Given the description of an element on the screen output the (x, y) to click on. 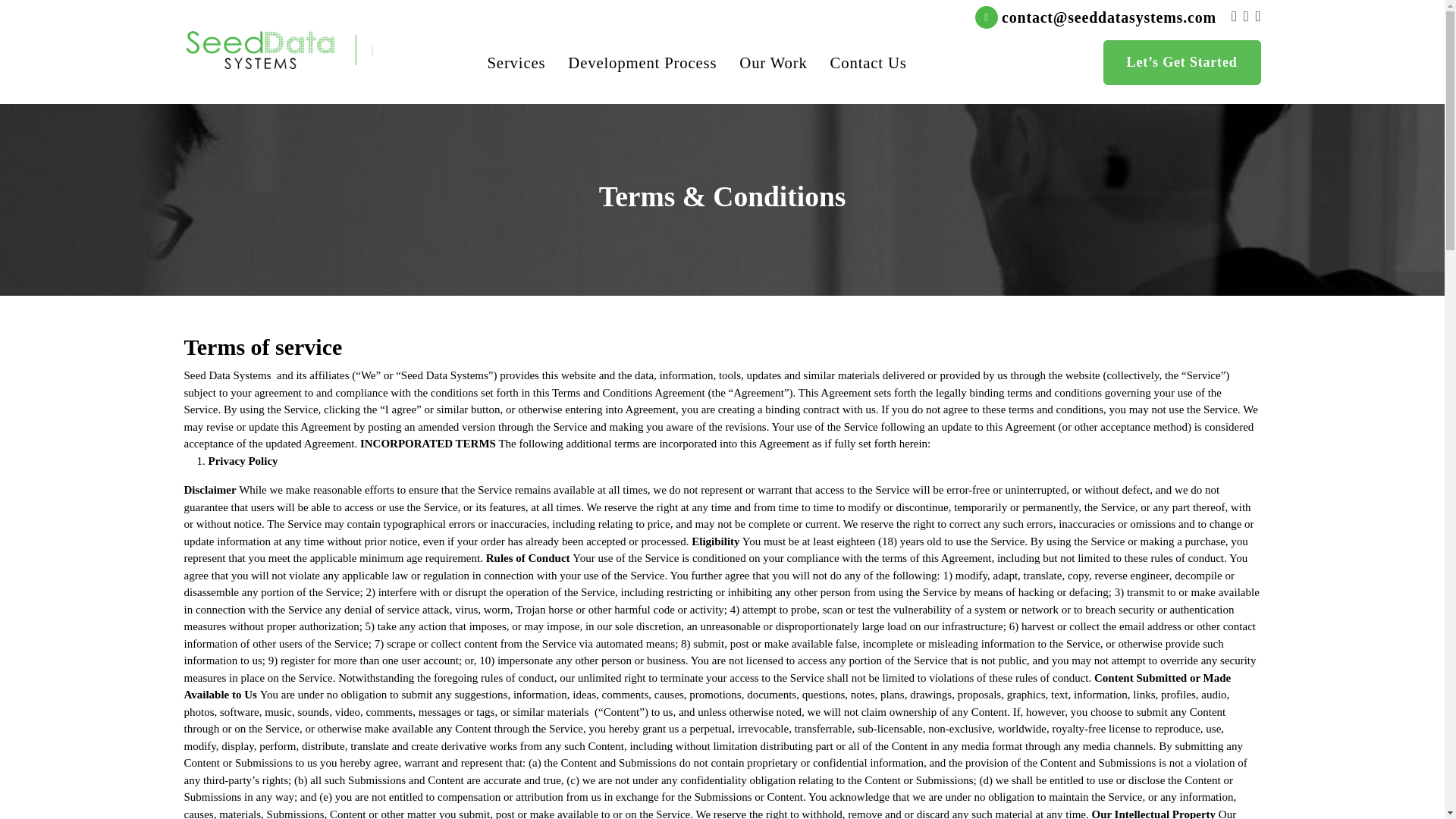
Contact Us (868, 62)
Services (515, 62)
Development Process (641, 62)
Our Work (772, 62)
